Given the description of an element on the screen output the (x, y) to click on. 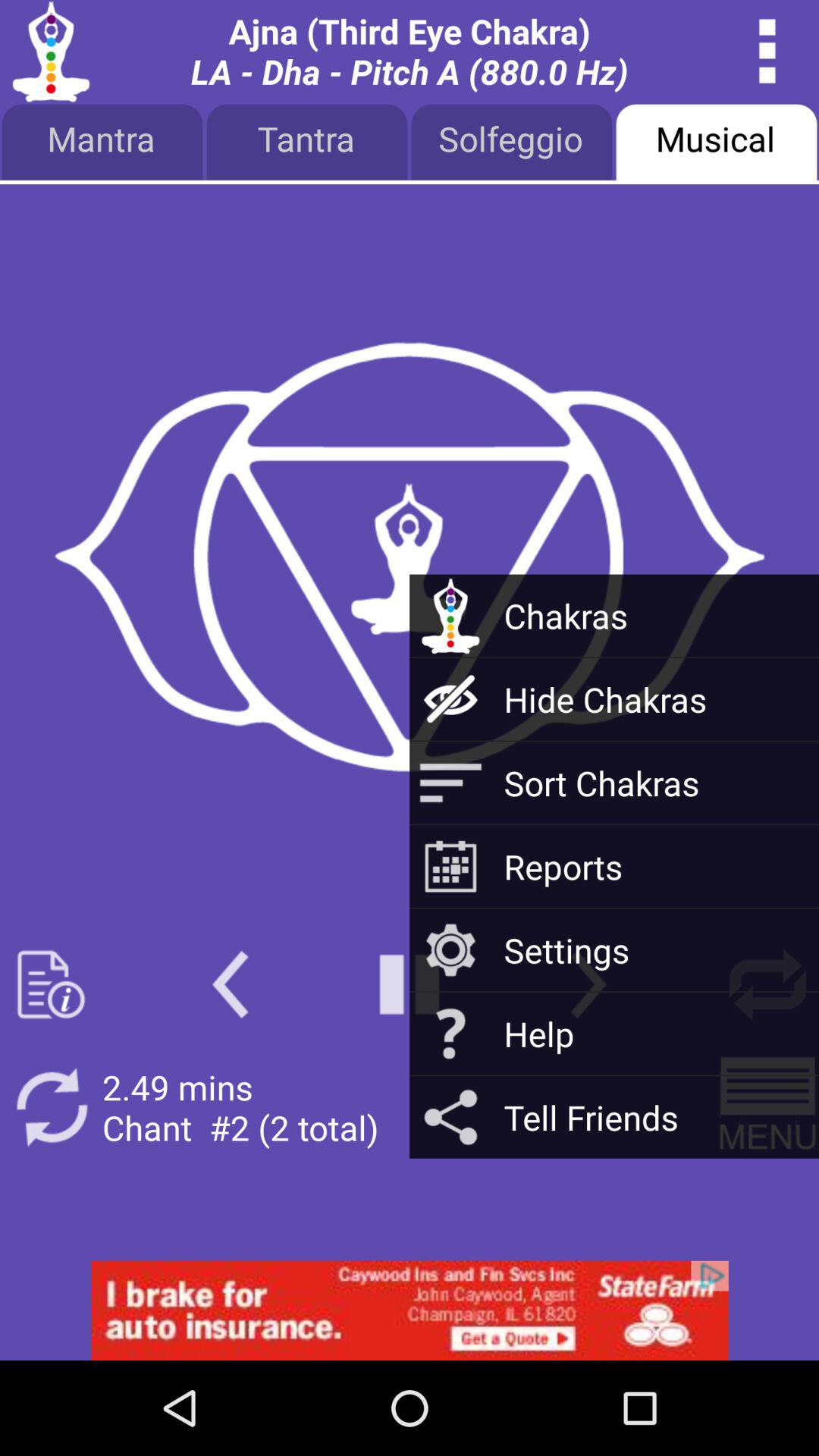
open advert (409, 1310)
